Given the description of an element on the screen output the (x, y) to click on. 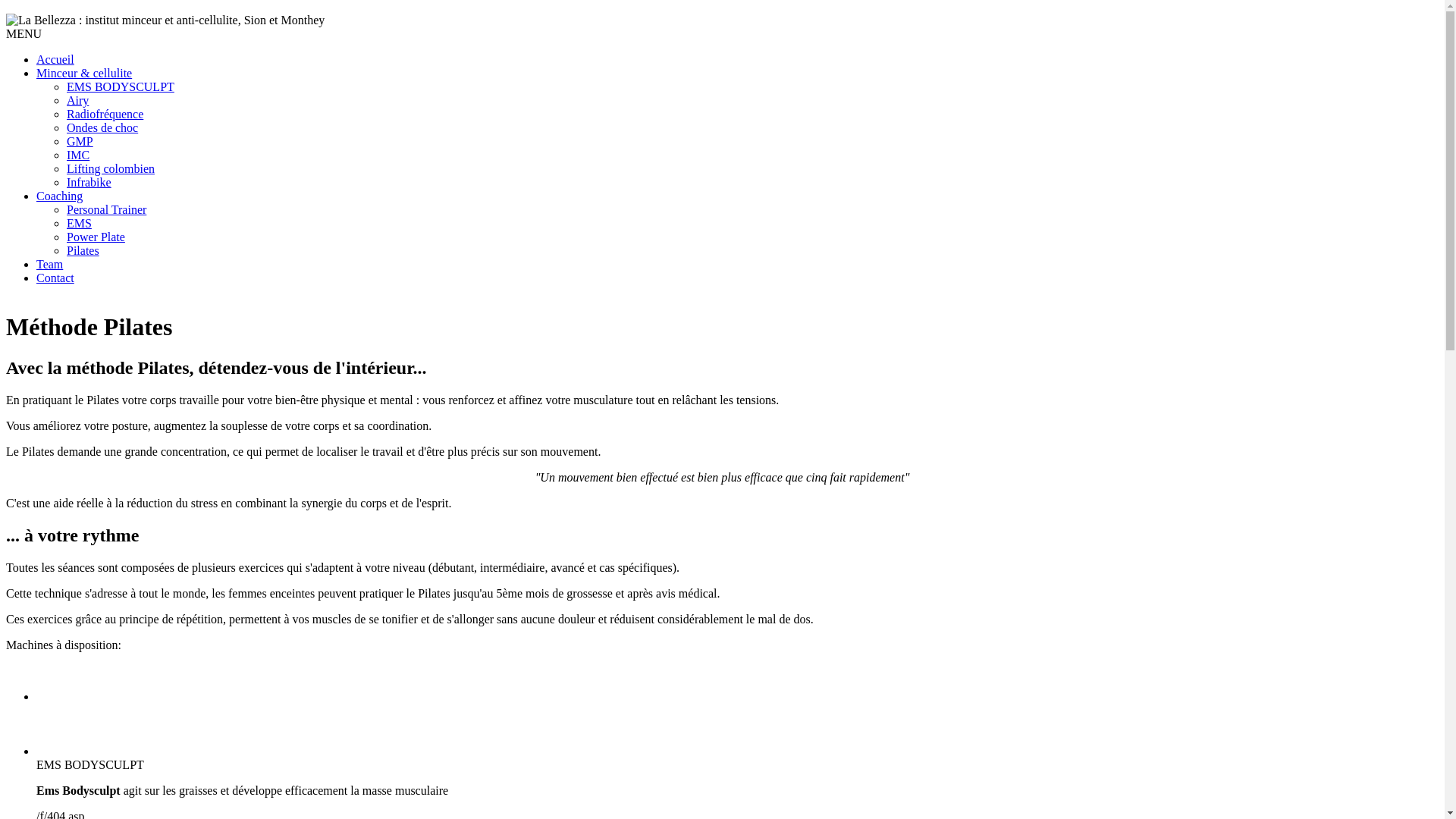
IMC Element type: text (77, 154)
Personal Trainer Element type: text (106, 209)
Airy Element type: text (77, 100)
Team Element type: text (49, 263)
Lifting colombien Element type: text (110, 168)
Ondes de choc Element type: text (102, 127)
GMP Element type: text (79, 140)
Minceur & cellulite Element type: text (83, 72)
Pilates Element type: text (82, 250)
Accueil Element type: text (55, 59)
EMS Element type: text (78, 222)
Contact Element type: text (55, 277)
Infrabike Element type: text (88, 181)
EMS BODYSCULPT Element type: text (120, 86)
Power Plate Element type: text (95, 236)
Coaching Element type: text (59, 195)
